Given the description of an element on the screen output the (x, y) to click on. 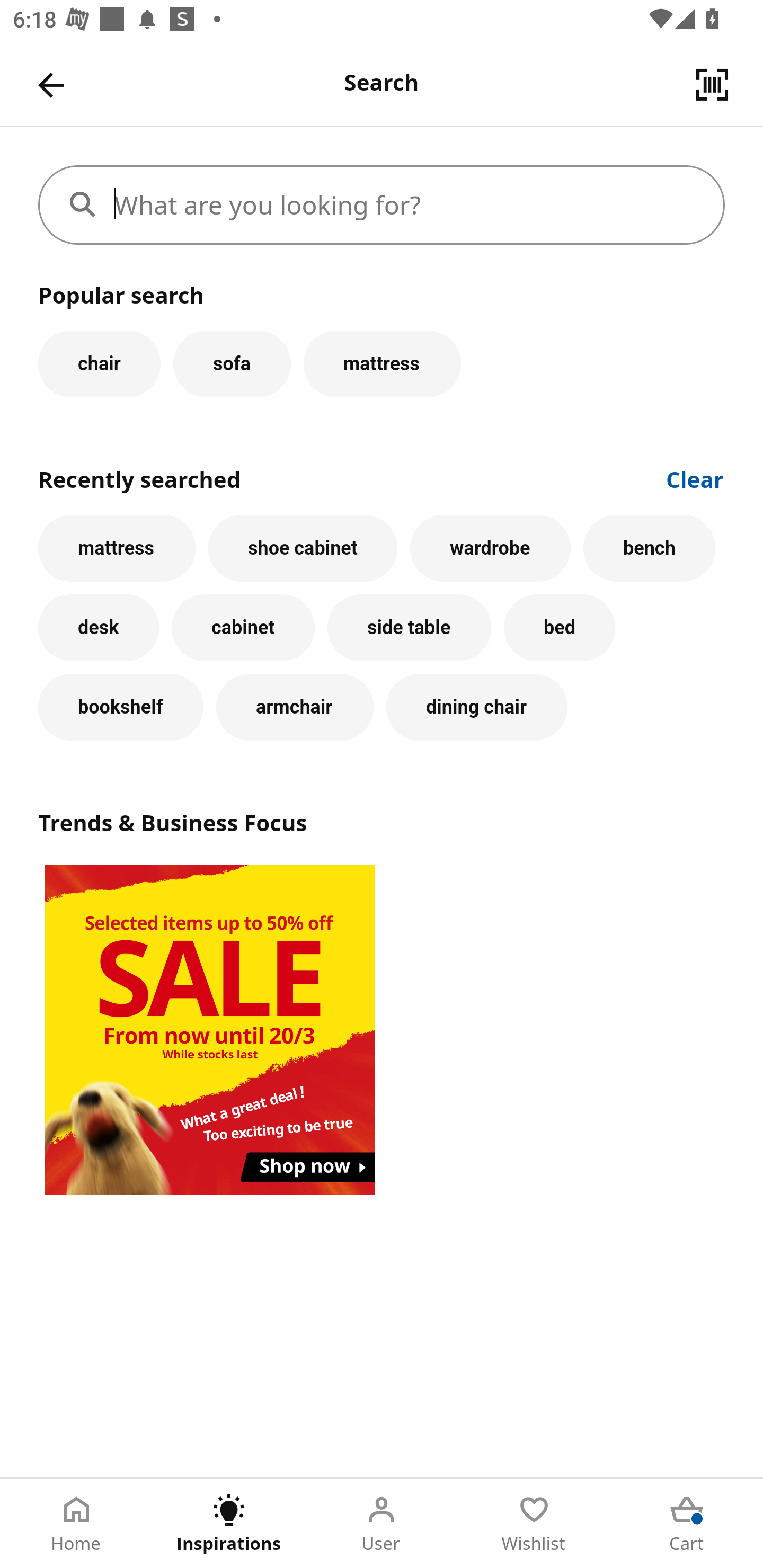
chair (99, 363)
sofa (231, 363)
mattress (381, 363)
Clear (695, 477)
mattress (116, 547)
shoe cabinet (302, 547)
wardrobe (490, 547)
bench (649, 547)
desk (98, 627)
cabinet (242, 627)
side table (409, 627)
bed (558, 627)
bookshelf (120, 707)
armchair (294, 707)
dining chair (476, 707)
Home
Tab 1 of 5 (76, 1522)
Inspirations
Tab 2 of 5 (228, 1522)
User
Tab 3 of 5 (381, 1522)
Wishlist
Tab 4 of 5 (533, 1522)
Cart
Tab 5 of 5 (686, 1522)
